Given the description of an element on the screen output the (x, y) to click on. 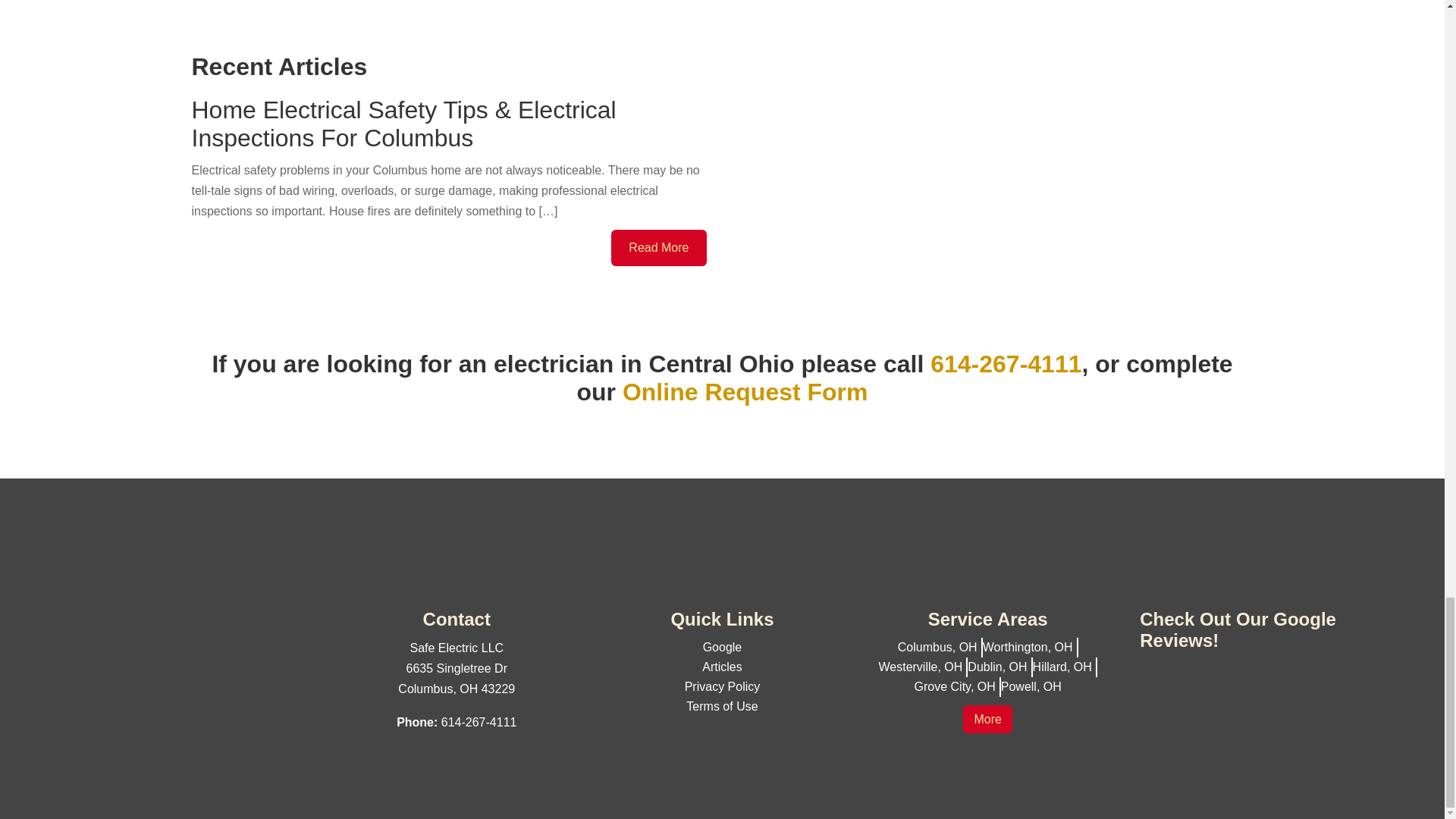
Google-5-Star-Business (1244, 735)
